Given the description of an element on the screen output the (x, y) to click on. 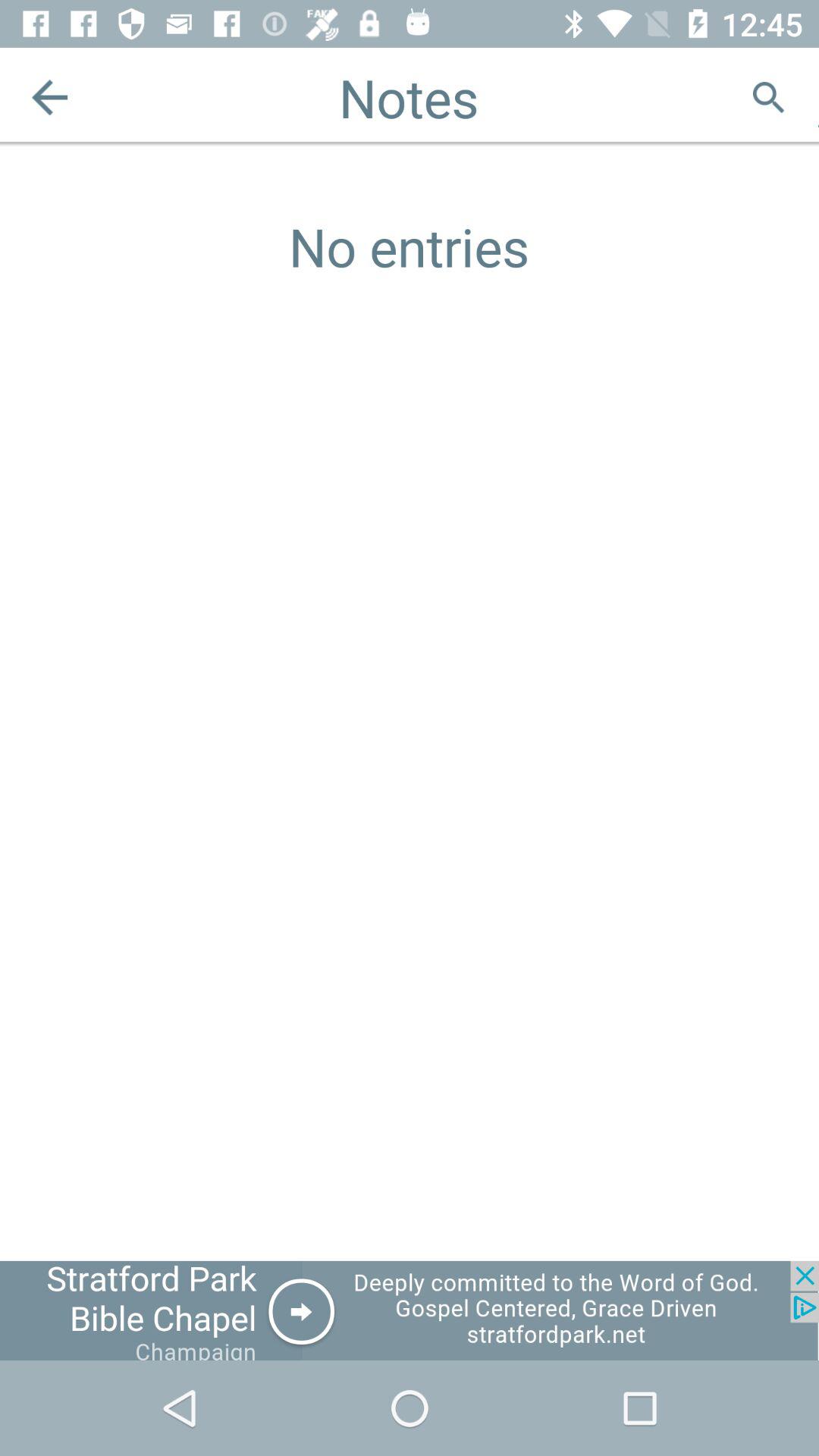
advertisement for church (409, 1310)
